Given the description of an element on the screen output the (x, y) to click on. 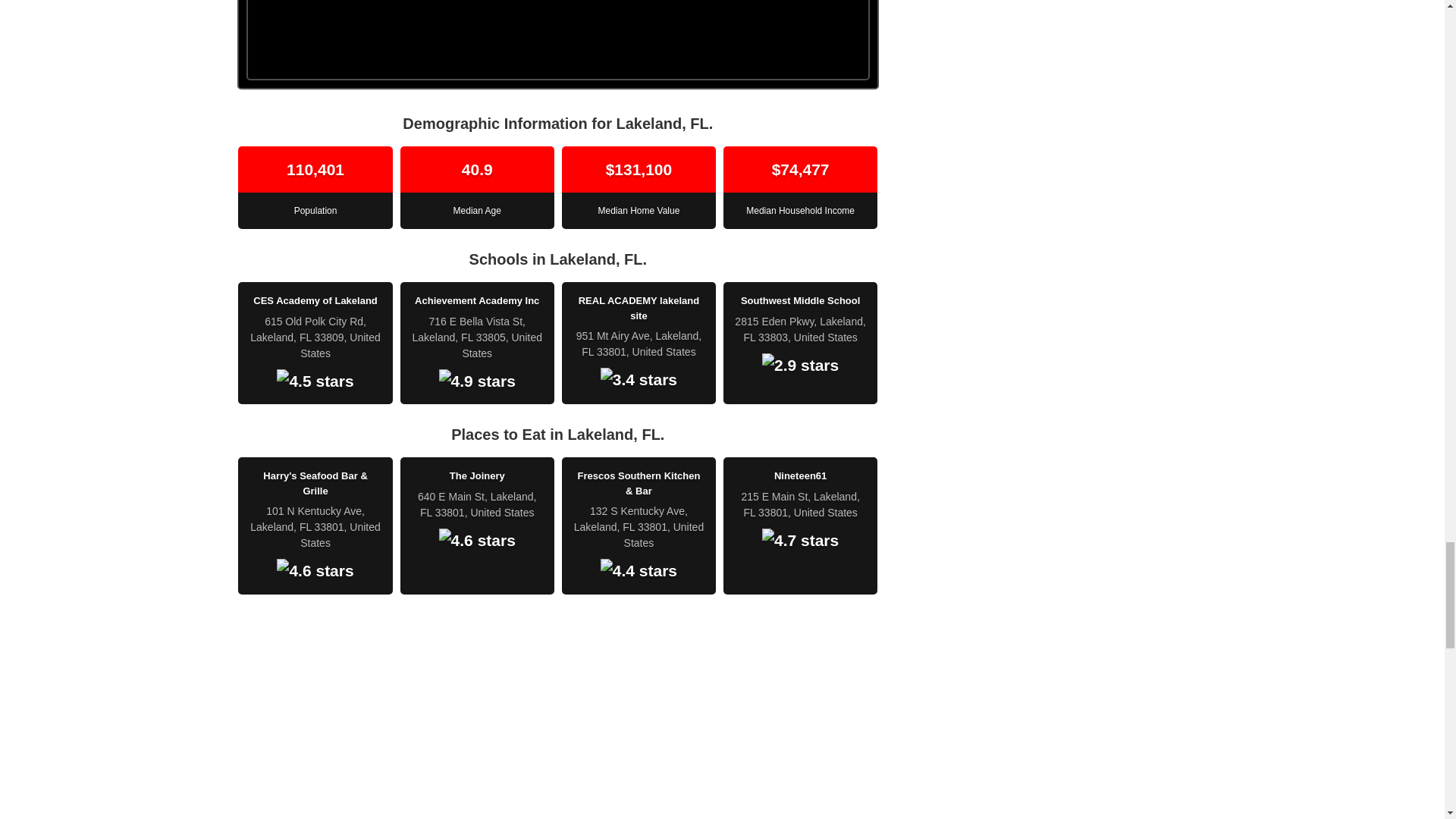
Lakeland, FL (557, 723)
